Given the description of an element on the screen output the (x, y) to click on. 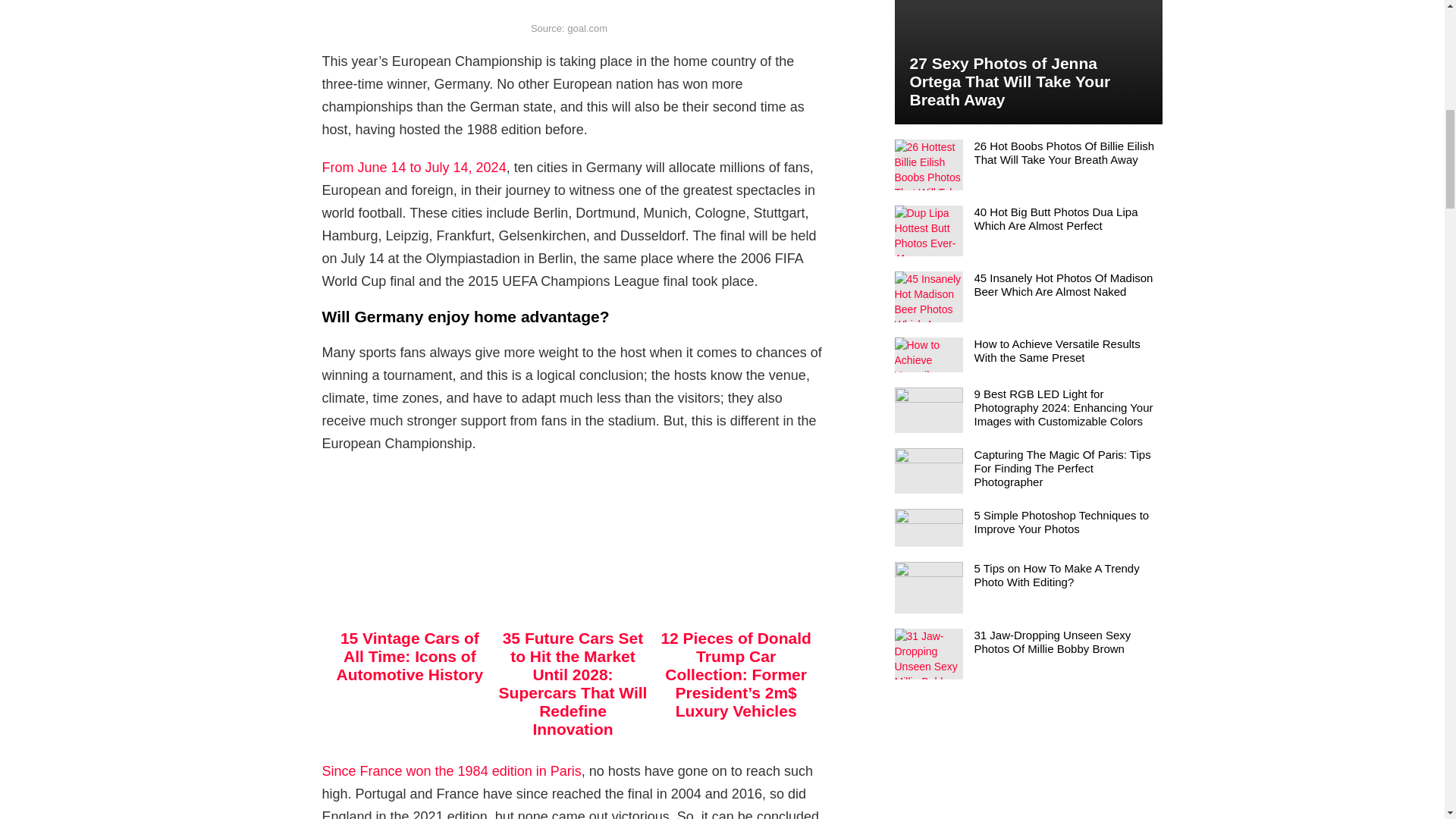
Since France won the 1984 edition in Paris (450, 770)
From June 14 to July 14, 2024 (413, 167)
15 Vintage Cars of All Time: Icons of Automotive History (409, 656)
